Given the description of an element on the screen output the (x, y) to click on. 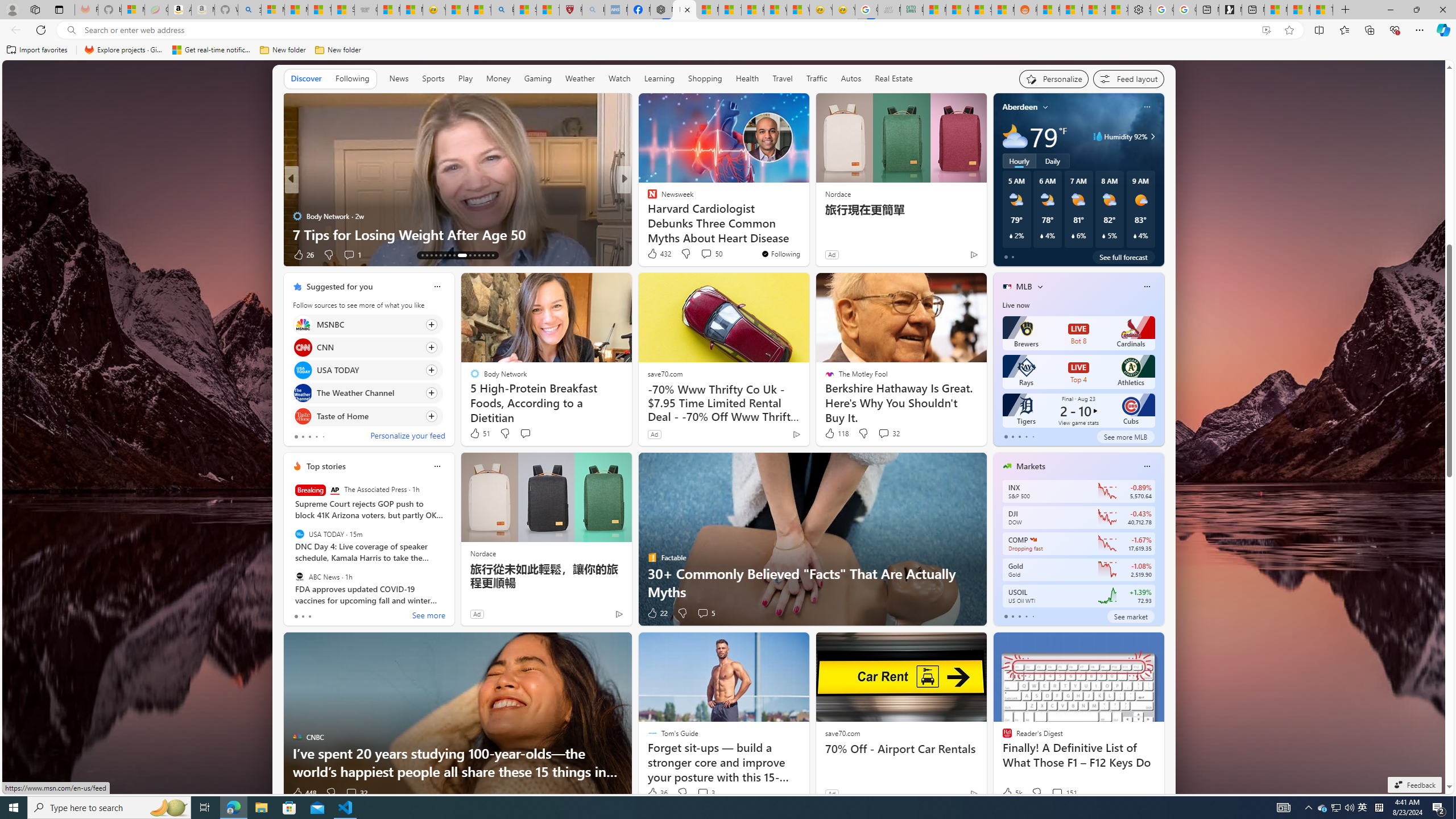
Class: weather-current-precipitation-glyph (1134, 235)
1 Like (651, 254)
Stocks - MSN (979, 9)
Start the conversation (525, 432)
Health (746, 79)
See more (428, 616)
AutomationID: tab-72 (449, 255)
NCL Adult Asthma Inhaler Choice Guideline - Sleeping (615, 9)
Fitness - MSN (752, 9)
View comments 3 Comment (705, 792)
Microsoft account | Privacy (272, 9)
